Given the description of an element on the screen output the (x, y) to click on. 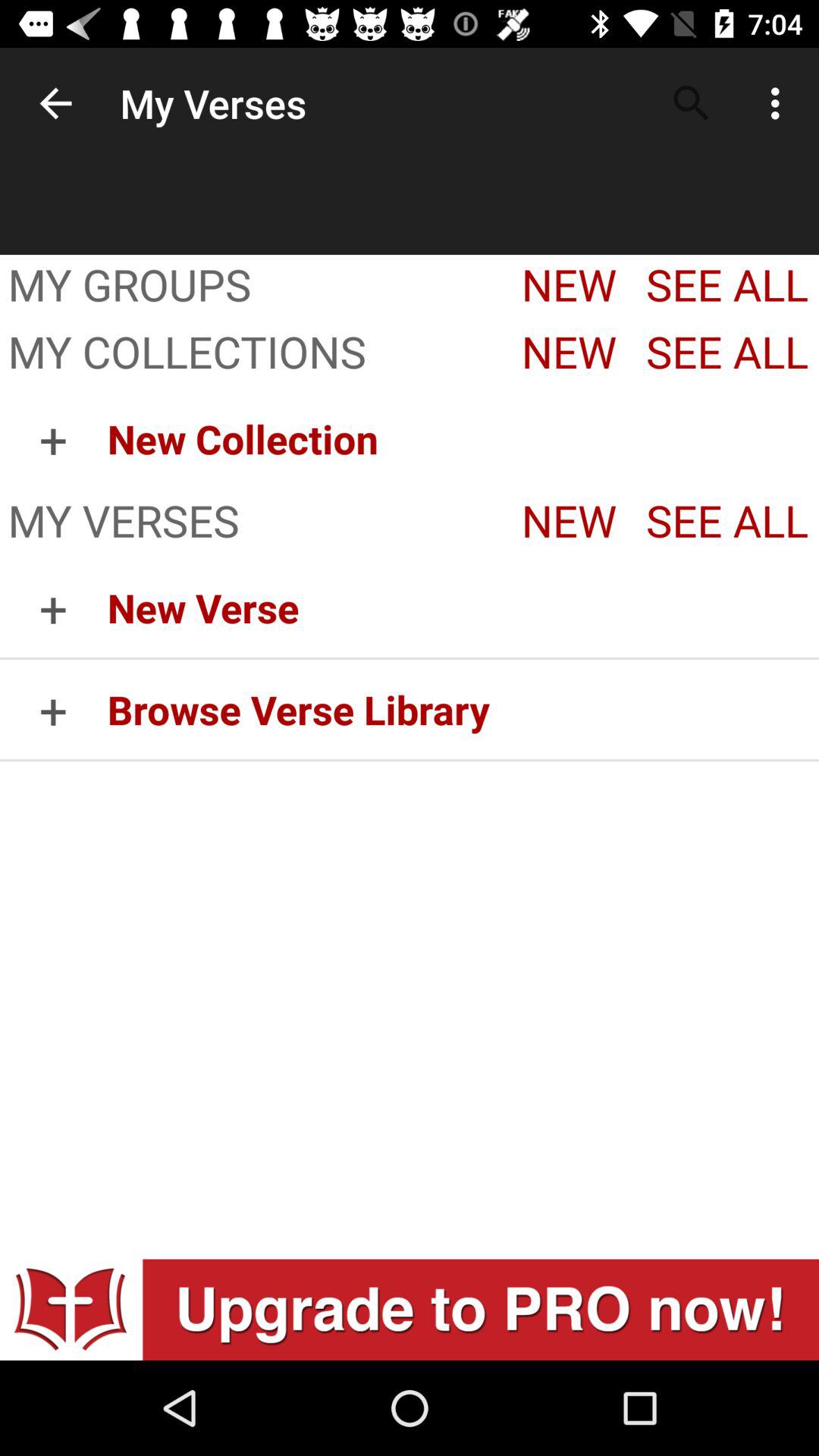
launch my groups item (251, 286)
